Given the description of an element on the screen output the (x, y) to click on. 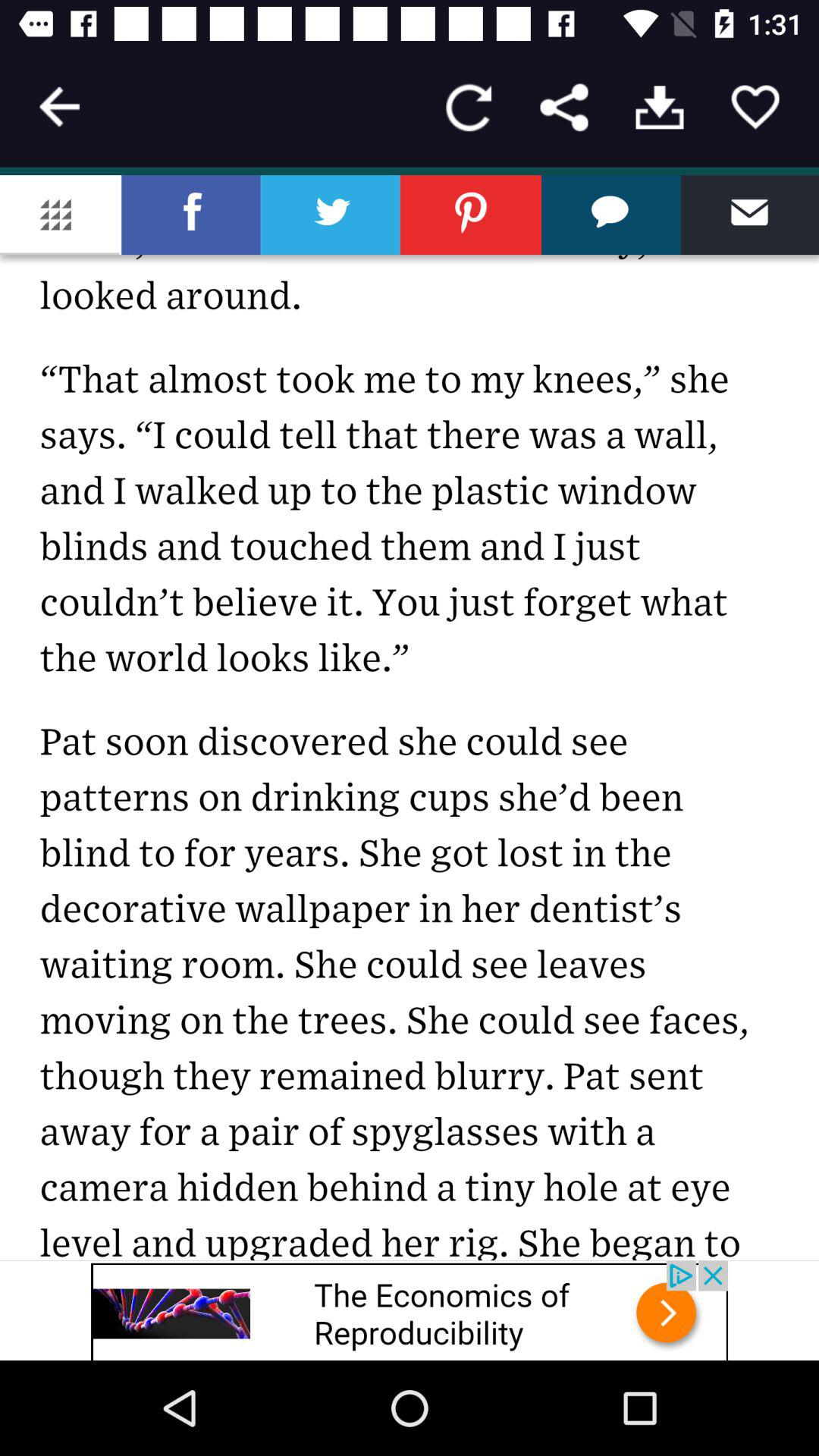
main content area (409, 717)
